Given the description of an element on the screen output the (x, y) to click on. 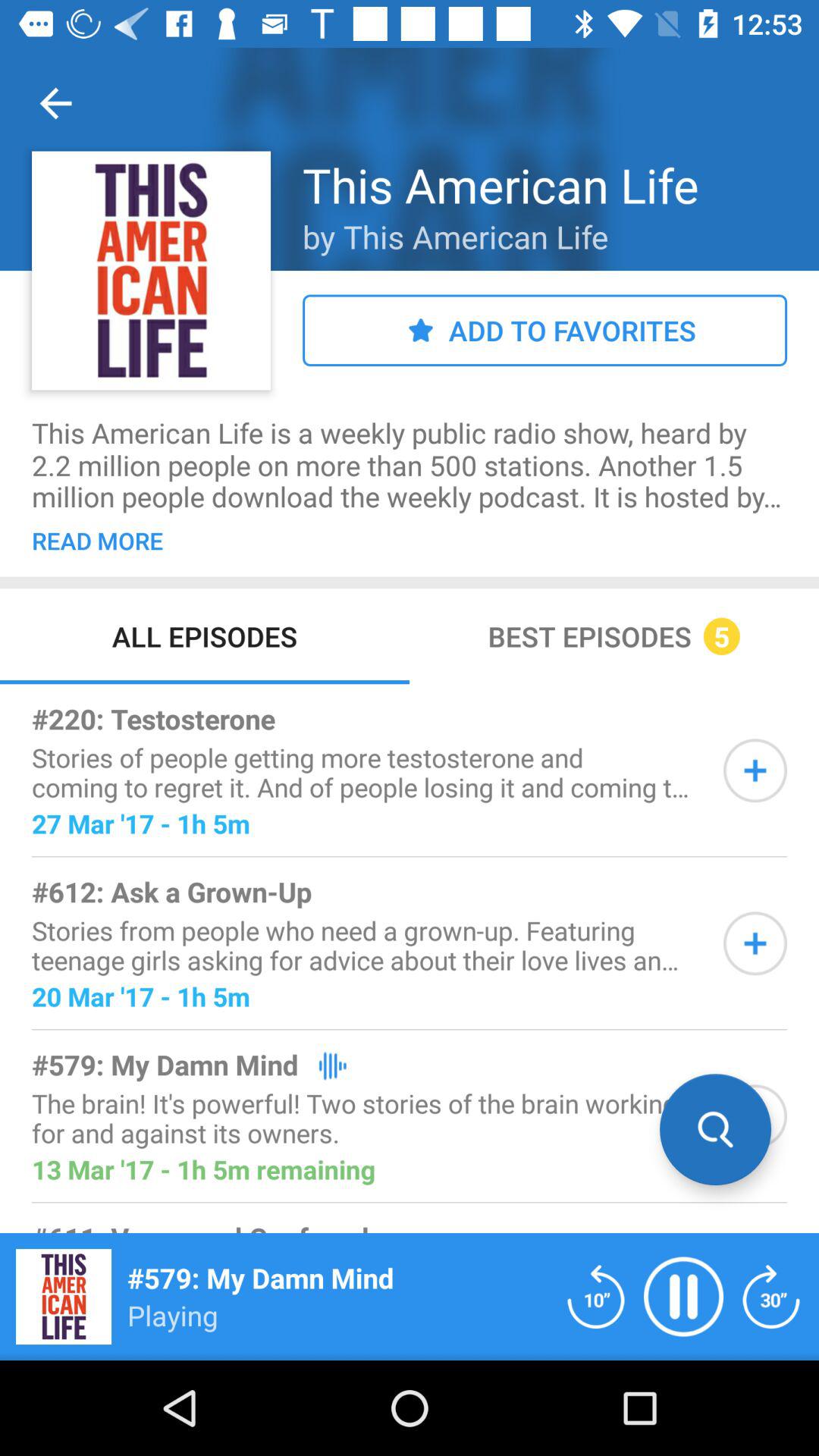
search (715, 1129)
